Given the description of an element on the screen output the (x, y) to click on. 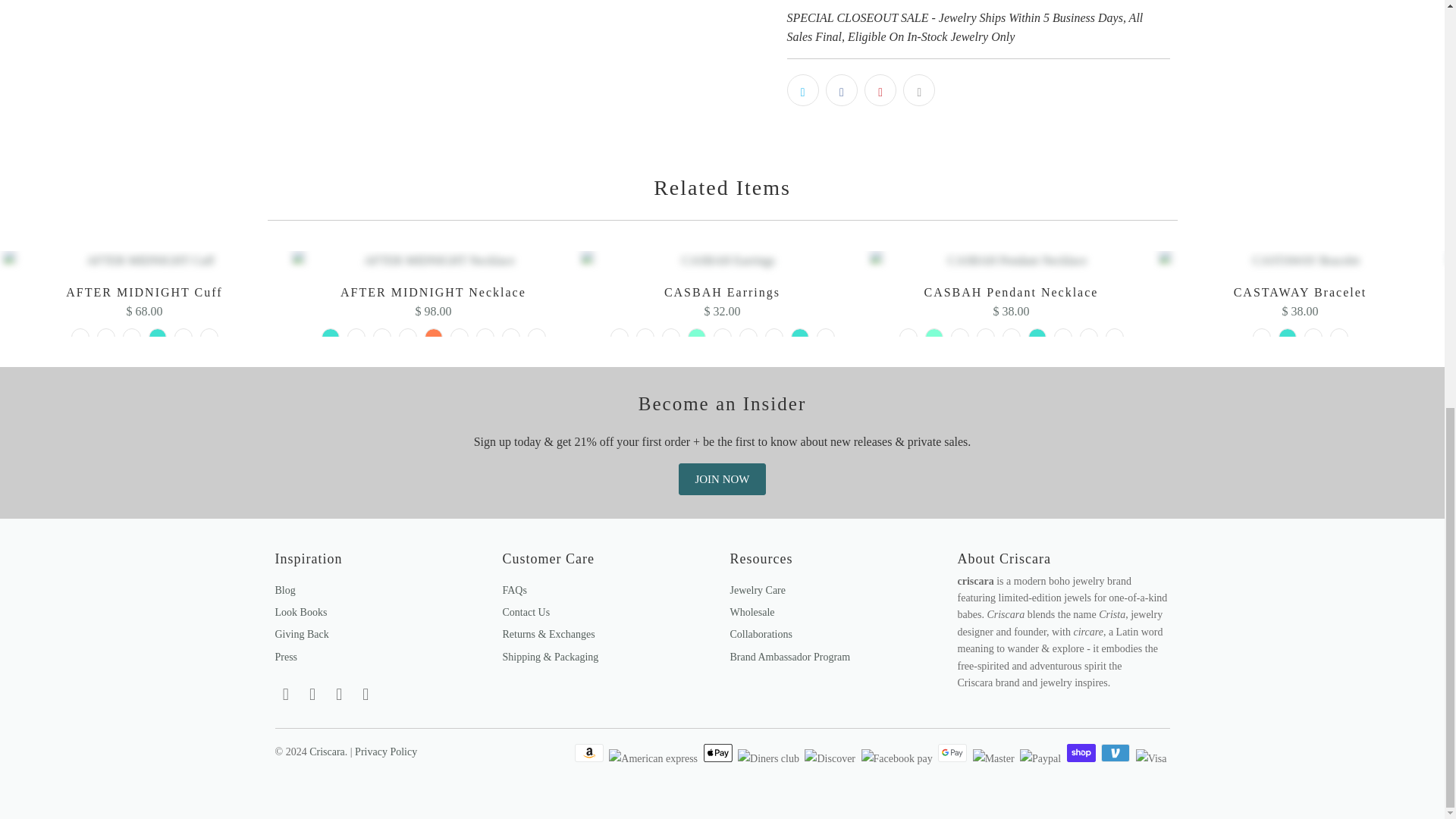
Share this on Twitter (802, 90)
Share this on Facebook (841, 90)
Share this on Pinterest (880, 90)
